Given the description of an element on the screen output the (x, y) to click on. 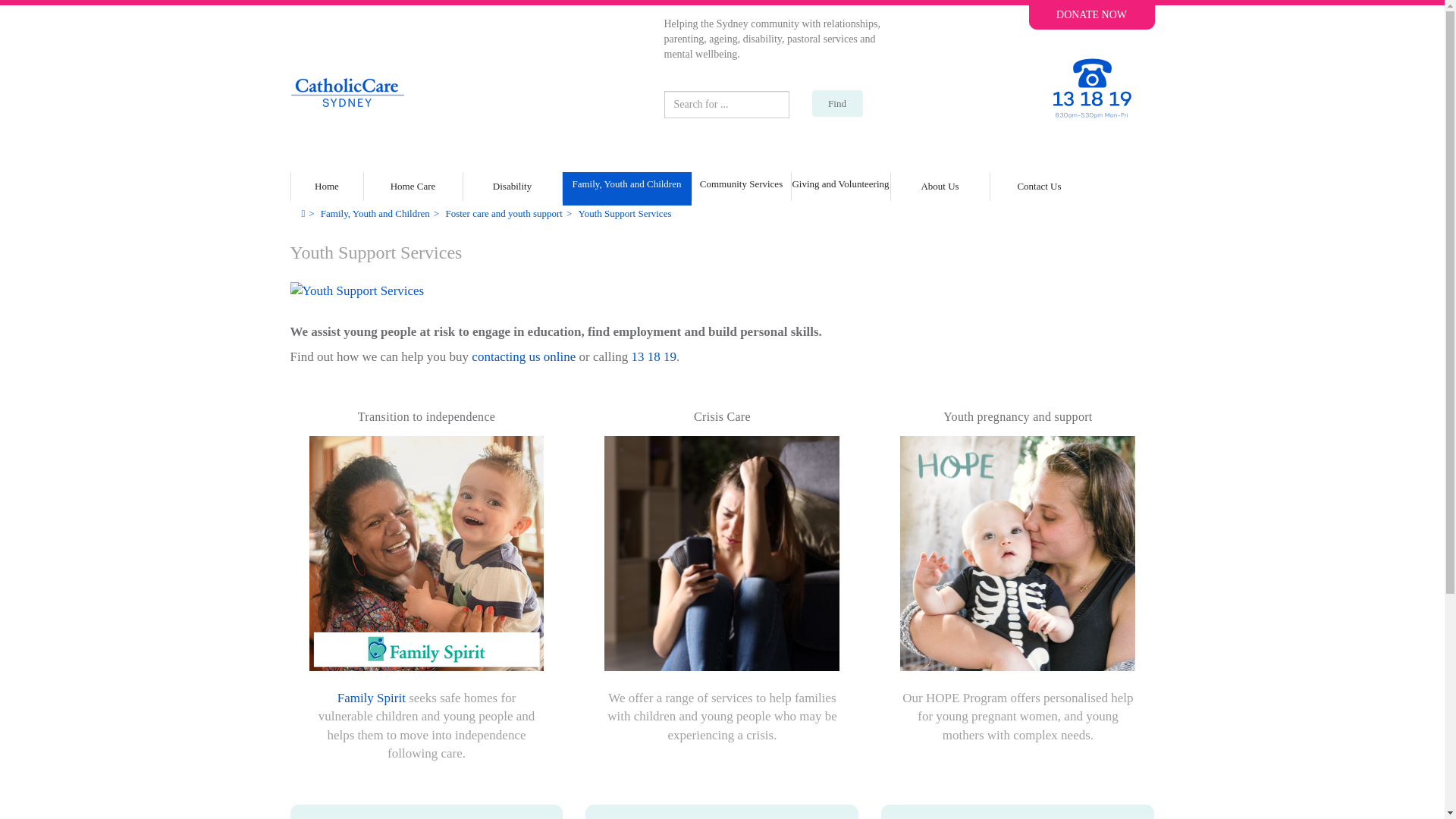
DONATE NOW (1090, 14)
Home (326, 182)
Disability (511, 186)
Community Services (740, 191)
Family, Youth and Children (626, 191)
Find (835, 103)
Home Care (413, 186)
